Given the description of an element on the screen output the (x, y) to click on. 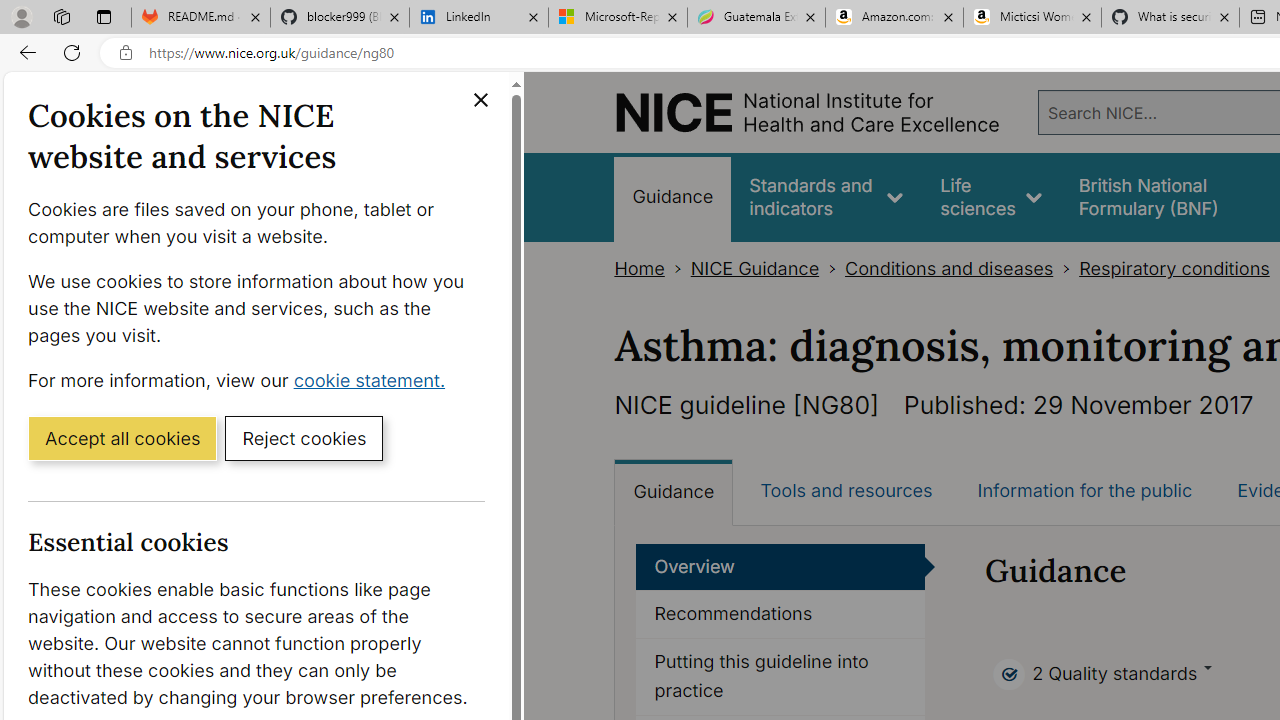
Recommendations (781, 615)
Tools and resources (846, 490)
Life sciences (991, 196)
cookie statement. (Opens in a new window) (373, 379)
Respiratory conditions (1174, 268)
Tools and resources (846, 490)
Recommendations (780, 615)
